Given the description of an element on the screen output the (x, y) to click on. 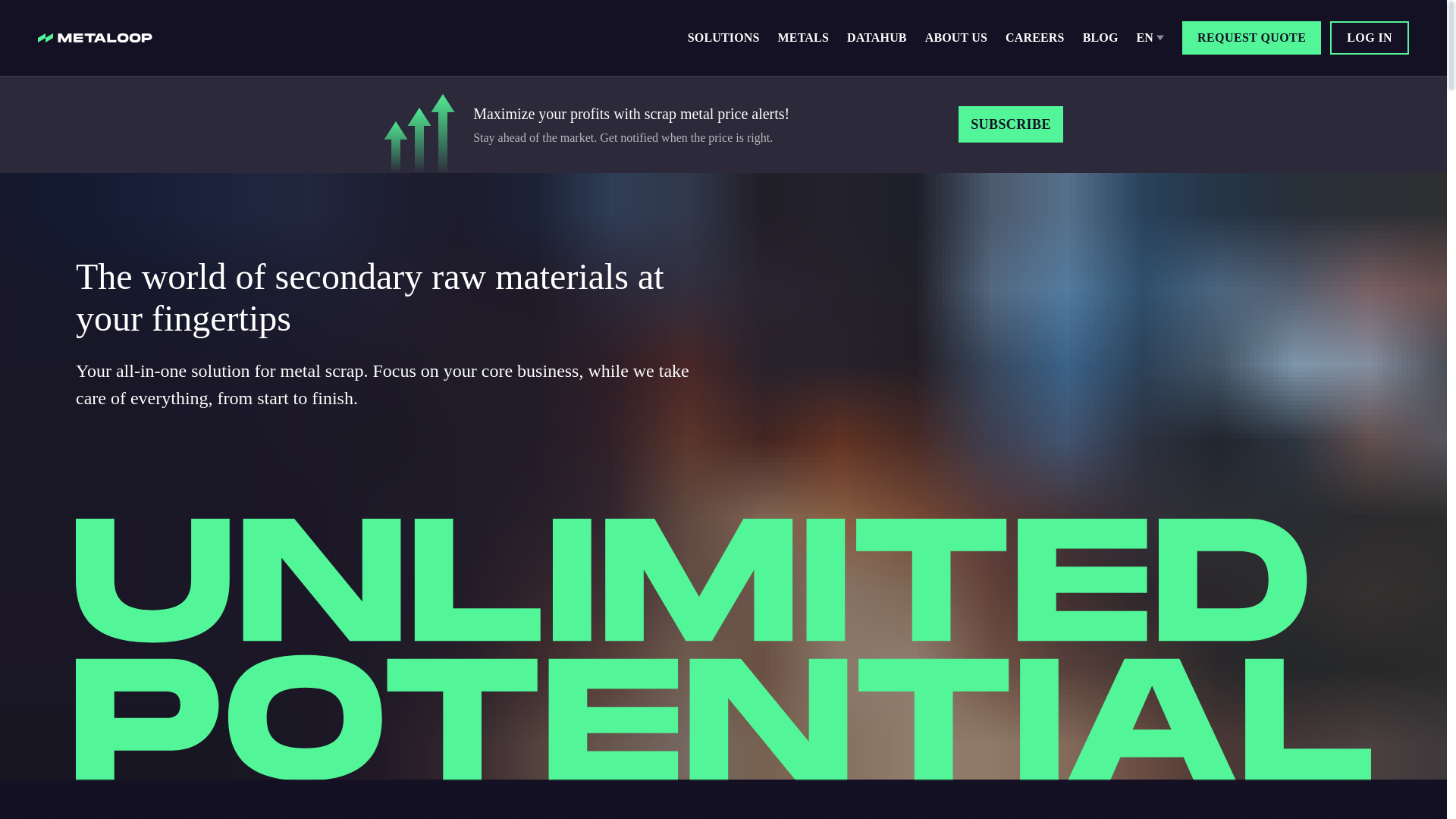
REQUEST QUOTE (1251, 37)
DATAHUB (876, 37)
BLOG (1100, 37)
CAREERS (1034, 37)
SUBSCRIBE (1010, 124)
LOG IN (1369, 37)
